Given the description of an element on the screen output the (x, y) to click on. 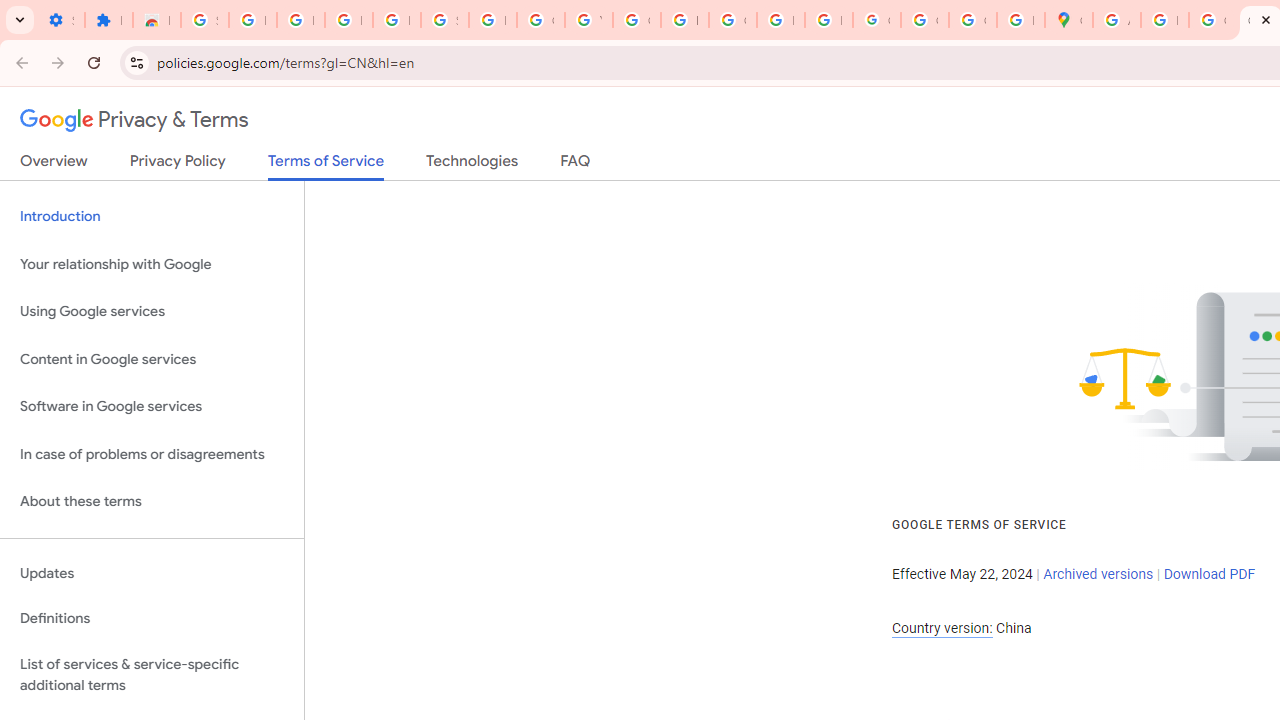
About these terms (152, 502)
List of services & service-specific additional terms (152, 674)
Country version: (942, 628)
Archived versions (1098, 574)
Your relationship with Google (152, 263)
